Given the description of an element on the screen output the (x, y) to click on. 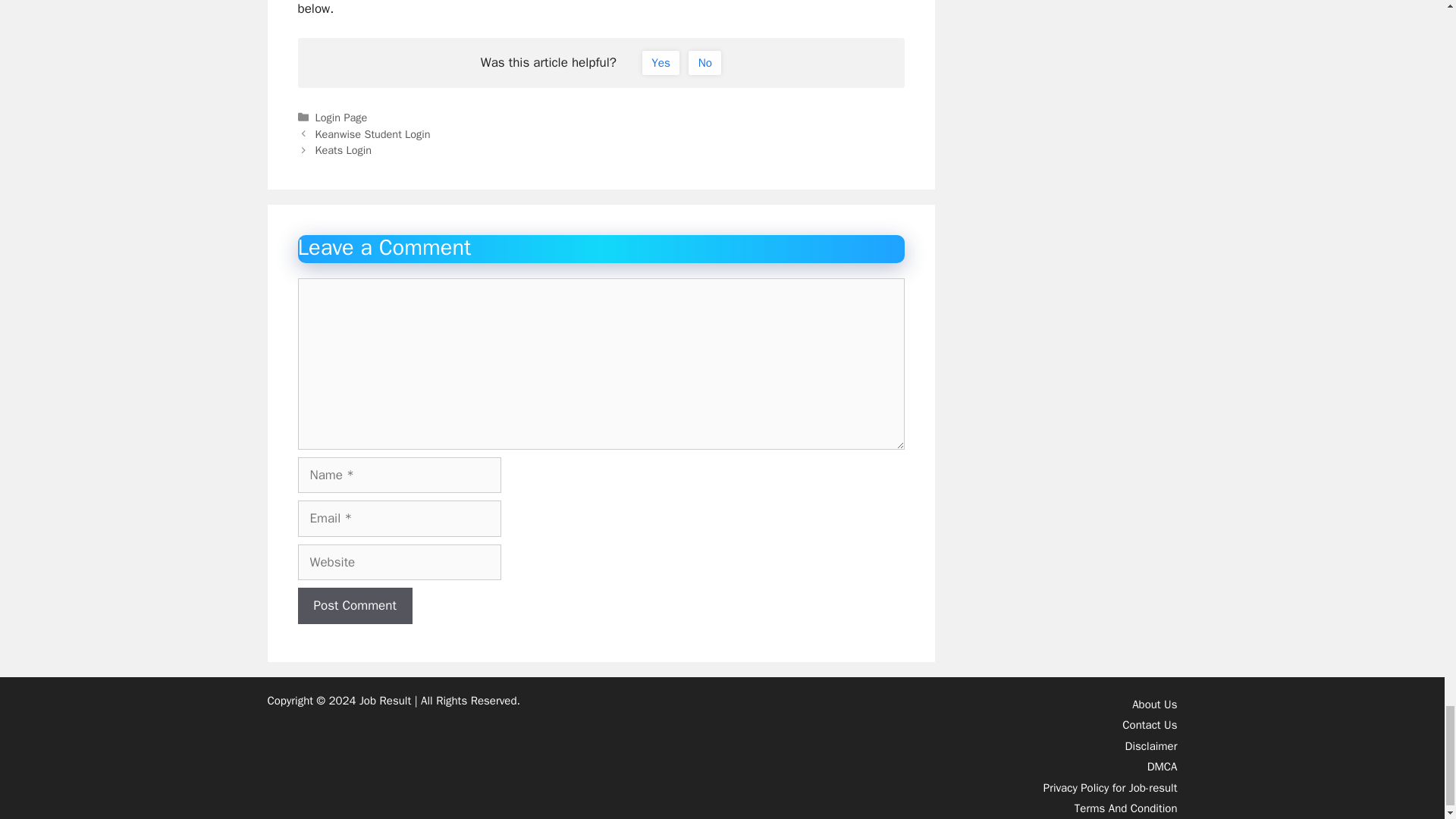
Post Comment (354, 606)
Keats Login (343, 150)
Post Comment (354, 606)
Keanwise Student Login (372, 133)
Login Page (341, 117)
